Given the description of an element on the screen output the (x, y) to click on. 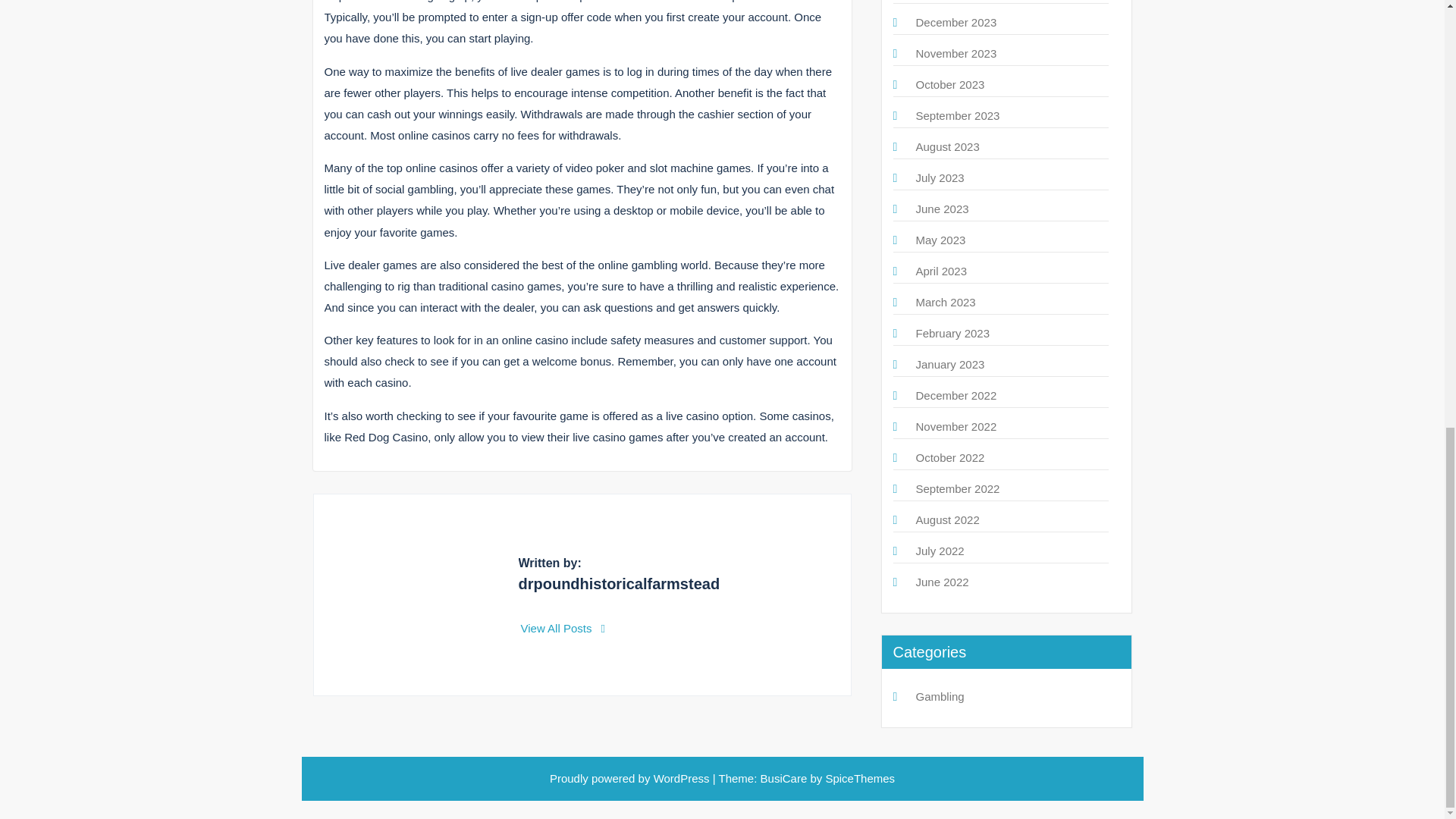
January 2023 (950, 364)
September 2022 (957, 488)
December 2022 (956, 395)
September 2023 (957, 115)
November 2022 (956, 426)
May 2023 (940, 239)
August 2022 (947, 519)
View All Posts (562, 627)
February 2023 (952, 332)
July 2022 (939, 550)
